Given the description of an element on the screen output the (x, y) to click on. 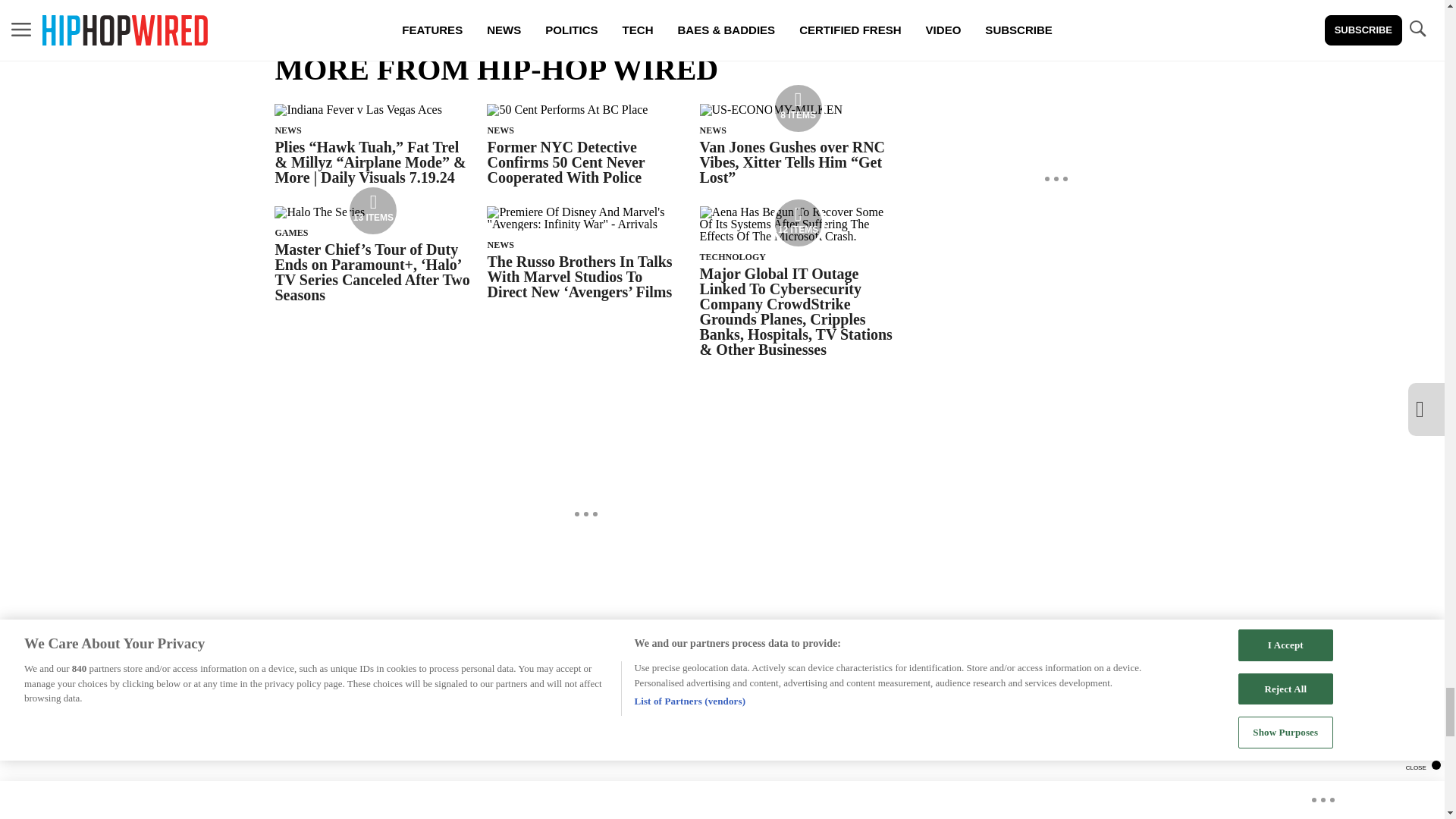
NEWS (499, 130)
Media Playlist (798, 108)
Media Playlist (372, 210)
Vuukle Comments Widget (585, 782)
13 ITEMS (320, 211)
Media Playlist (798, 222)
GAMES (291, 232)
8 ITEMS (771, 109)
NEWS (288, 130)
NEWS (499, 244)
NEWS (713, 130)
